Given the description of an element on the screen output the (x, y) to click on. 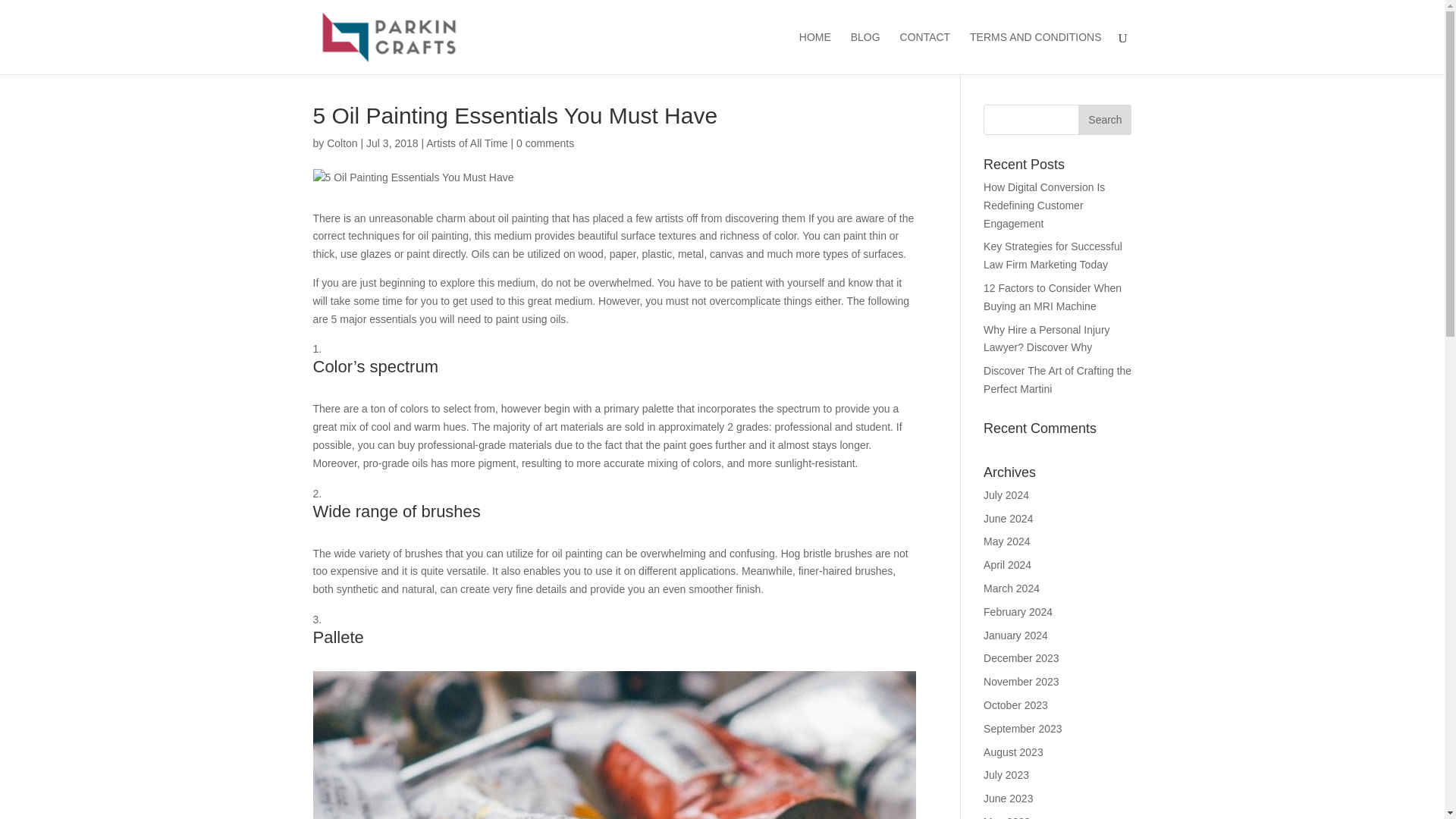
Search (1104, 119)
TERMS AND CONDITIONS (1034, 52)
July 2024 (1006, 494)
June 2023 (1008, 798)
July 2023 (1006, 775)
November 2023 (1021, 681)
June 2024 (1008, 518)
August 2023 (1013, 752)
CONTACT (924, 52)
Posts by Colton (341, 143)
December 2023 (1021, 657)
October 2023 (1016, 705)
January 2024 (1016, 635)
May 2023 (1006, 817)
April 2024 (1007, 564)
